Given the description of an element on the screen output the (x, y) to click on. 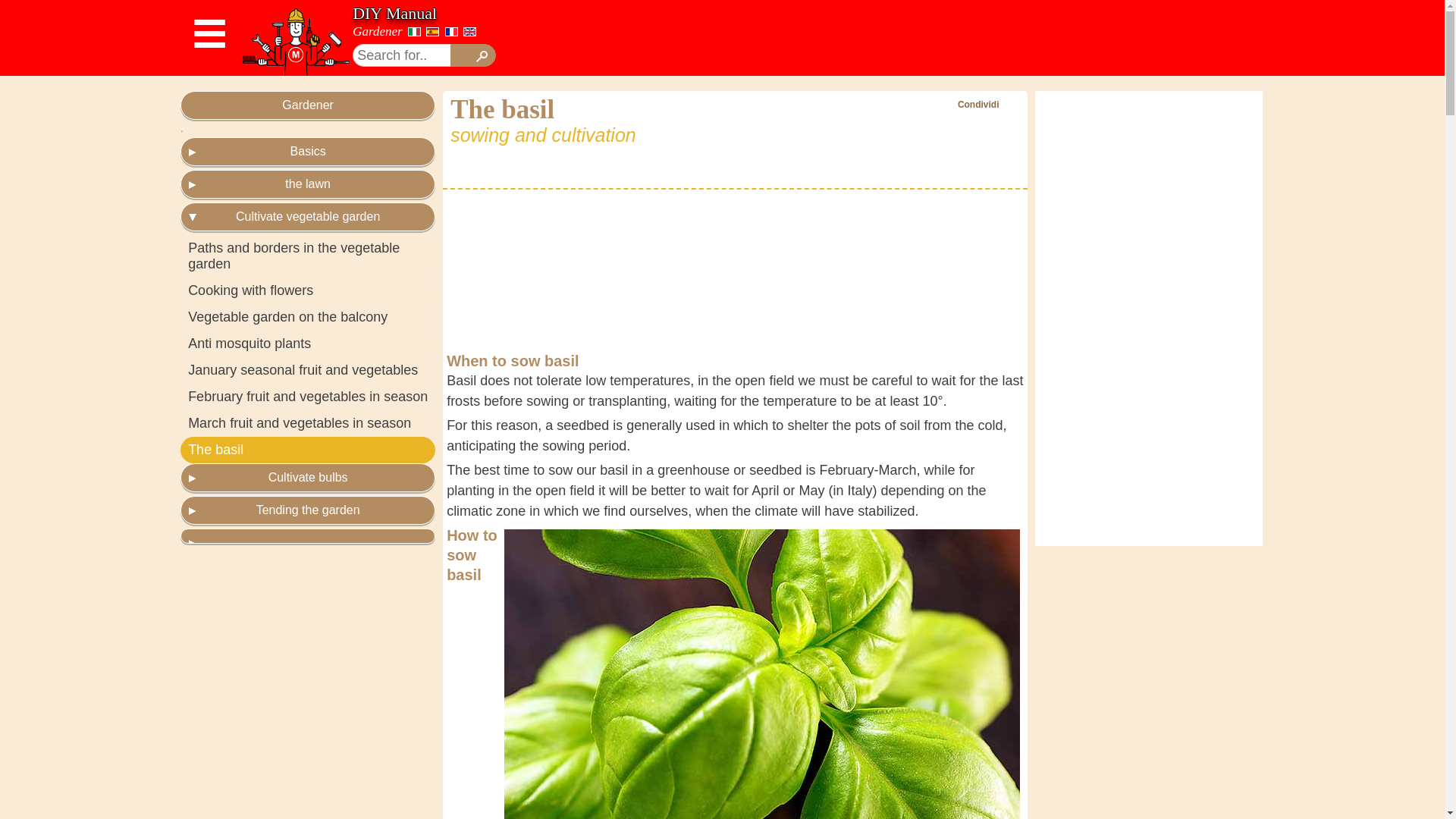
DIY Manual (394, 13)
Advertisement (801, 38)
Basics (307, 151)
Gardener (376, 31)
Gardener (307, 104)
Advertisement (739, 270)
